Given the description of an element on the screen output the (x, y) to click on. 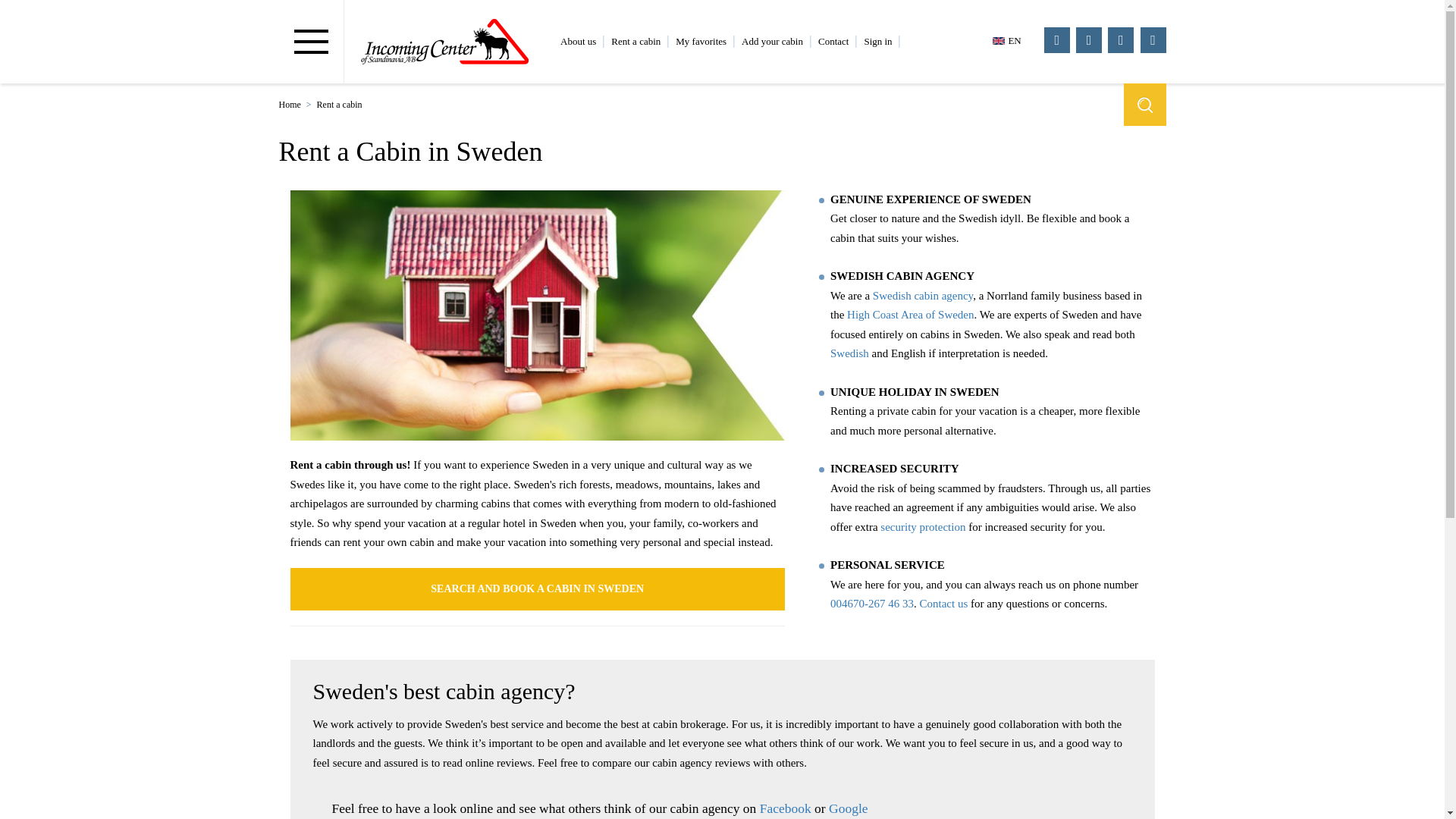
Add your cabin (771, 41)
Sign in (877, 41)
Contact (833, 41)
Sign in (877, 41)
About us (578, 41)
Contact (833, 41)
Rent a cabin (636, 41)
Add your cabin (771, 41)
en (1009, 40)
My favorites (700, 41)
